Given the description of an element on the screen output the (x, y) to click on. 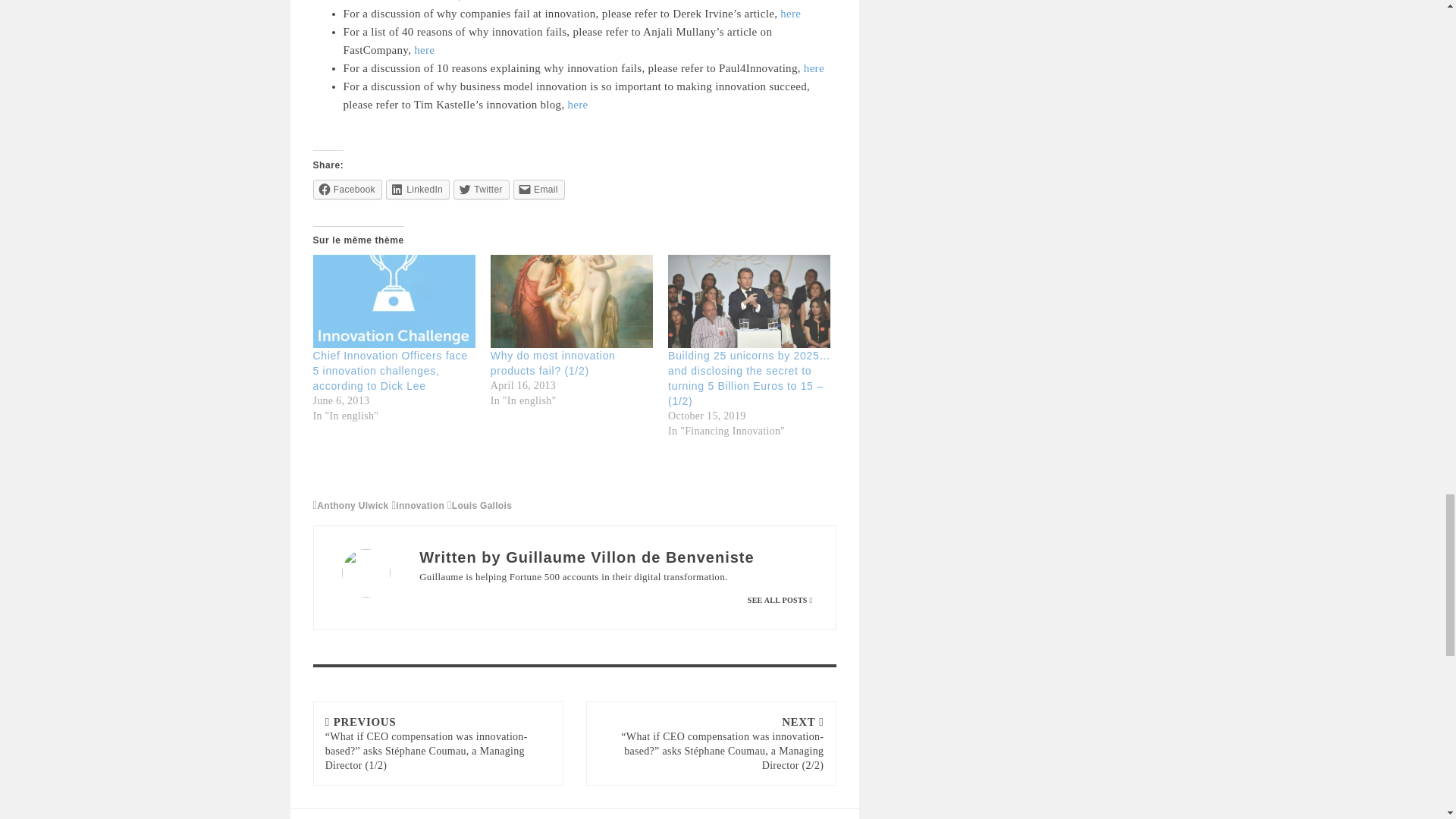
Click to share on LinkedIn (417, 189)
LinkedIn (417, 189)
here (577, 104)
See the author's page (780, 600)
Anthony Ulwick (350, 505)
here (790, 13)
Facebook (347, 189)
Twitter (480, 189)
Louis Gallois (479, 505)
Click to email this to a friend (538, 189)
innovation (417, 505)
here (423, 50)
